Given the description of an element on the screen output the (x, y) to click on. 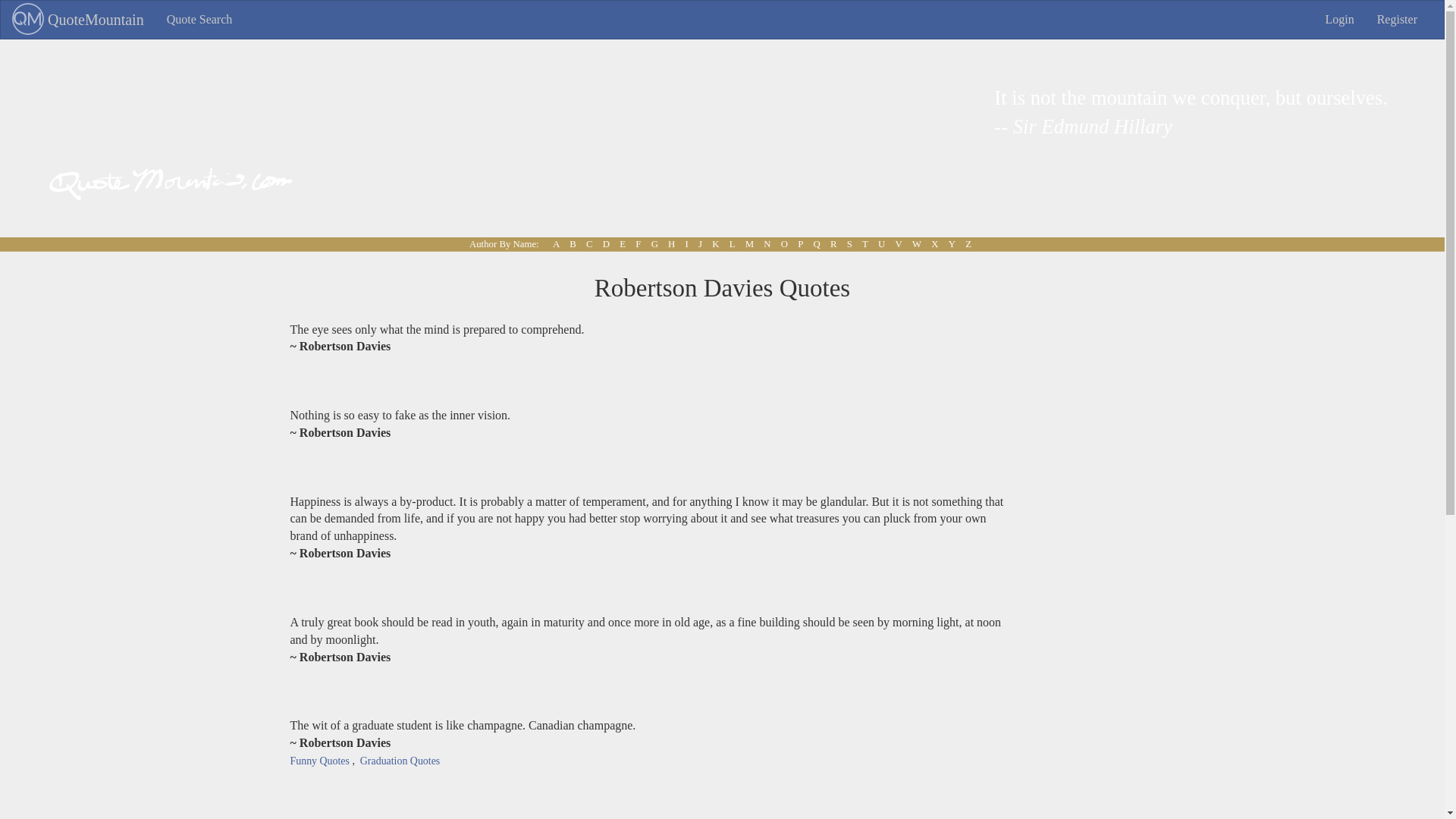
Funny Quotes (319, 760)
QuoteMountain (78, 19)
Login (1339, 19)
Graduation Quotes (399, 760)
Quote Search (199, 19)
W (916, 244)
Register (1396, 19)
